Given the description of an element on the screen output the (x, y) to click on. 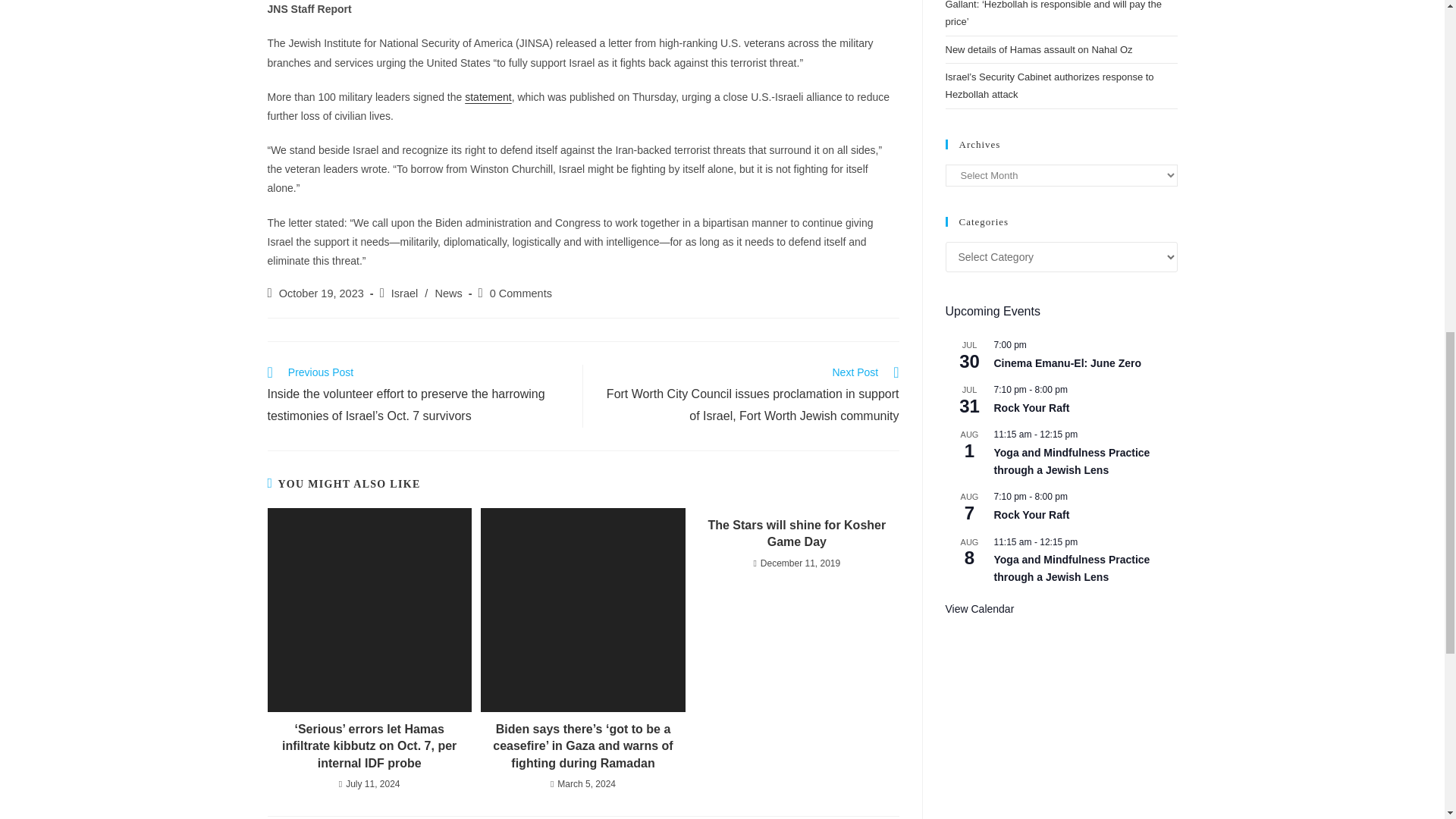
Rock Your Raft (1030, 408)
Yoga and Mindfulness Practice through a Jewish Lens (1071, 568)
Yoga and Mindfulness Practice through a Jewish Lens (1071, 461)
View more events. (978, 608)
Rock Your Raft (1030, 514)
Cinema Emanu-El: June Zero (1066, 363)
